Given the description of an element on the screen output the (x, y) to click on. 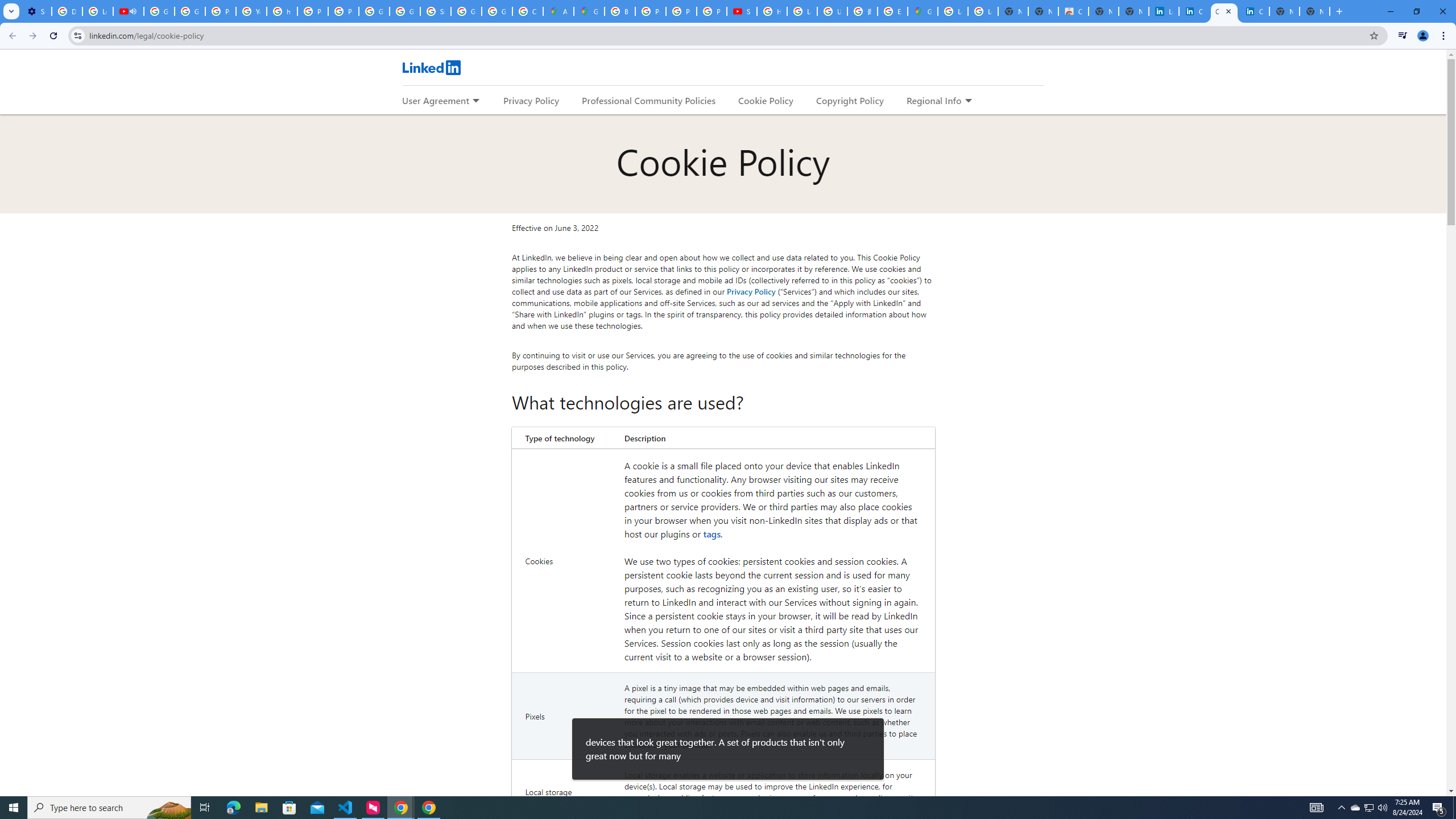
Privacy Help Center - Policies Help (312, 11)
How Chrome protects your passwords - Google Chrome Help (771, 11)
